Given the description of an element on the screen output the (x, y) to click on. 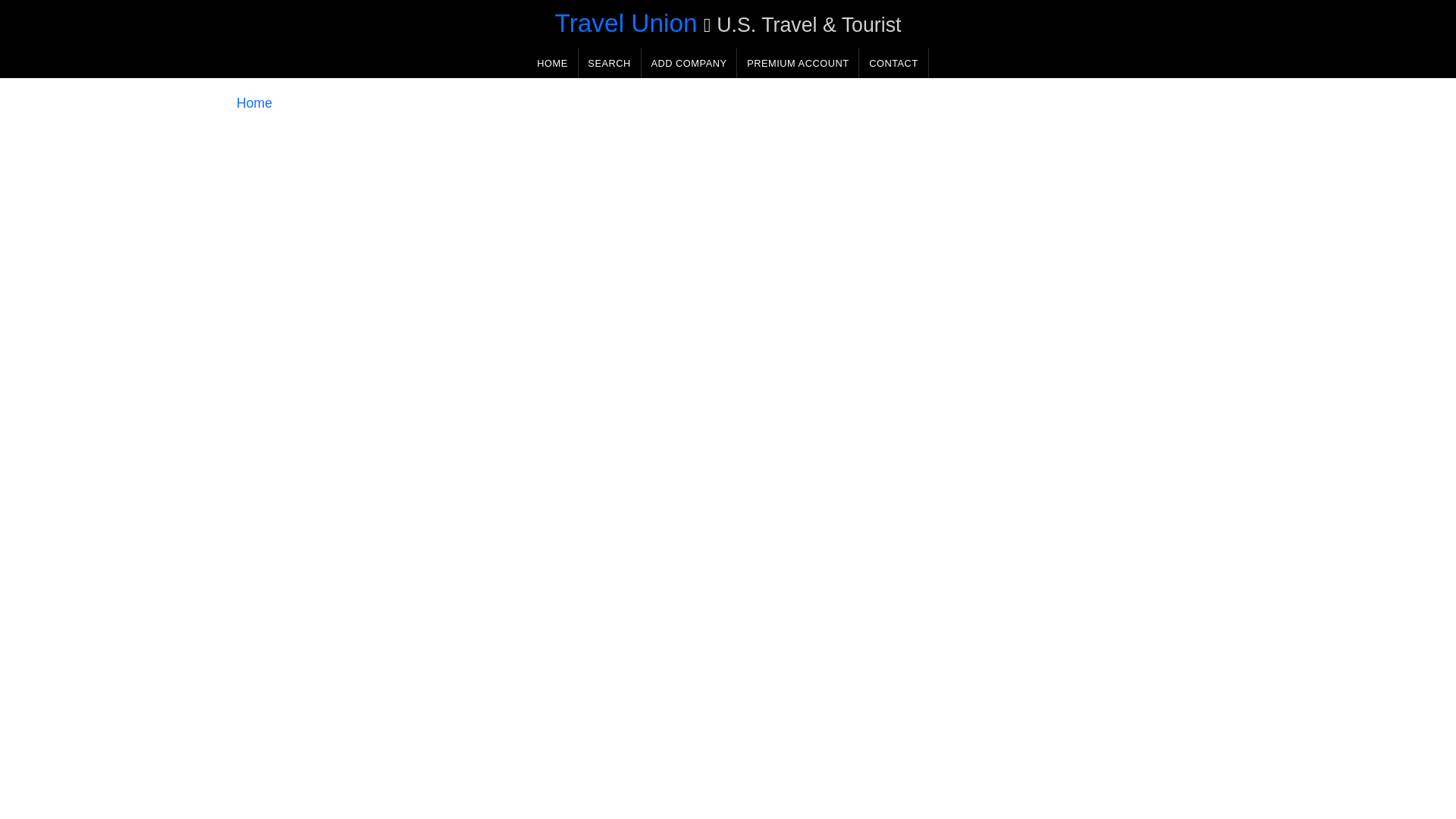
Add a new company (689, 62)
HOME (551, 62)
Travel Union (625, 22)
Home (253, 102)
ADD COMPANY (689, 62)
PREMIUM ACCOUNT (797, 62)
CONTACT (893, 62)
Premium account (797, 62)
SEARCH (609, 62)
Search in this webseite. (609, 62)
